Given the description of an element on the screen output the (x, y) to click on. 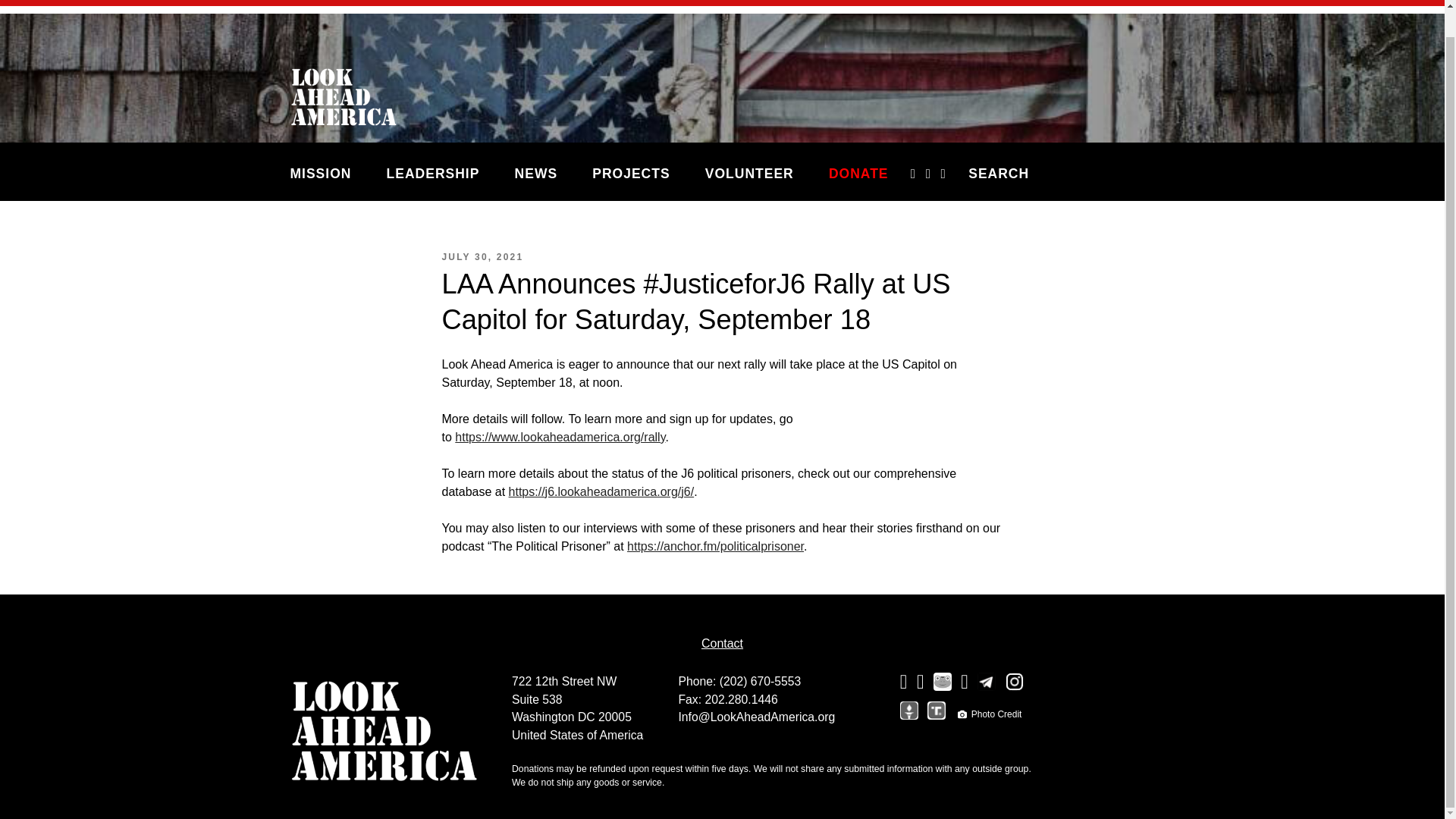
VOLUNTEER (749, 172)
Contact (721, 643)
Photo Credit (990, 713)
JULY 30, 2021 (481, 256)
MISSION (328, 172)
PROJECTS (630, 172)
SEARCH (998, 172)
NEWS (535, 172)
Fax: 202.280.1446 (727, 698)
